Given the description of an element on the screen output the (x, y) to click on. 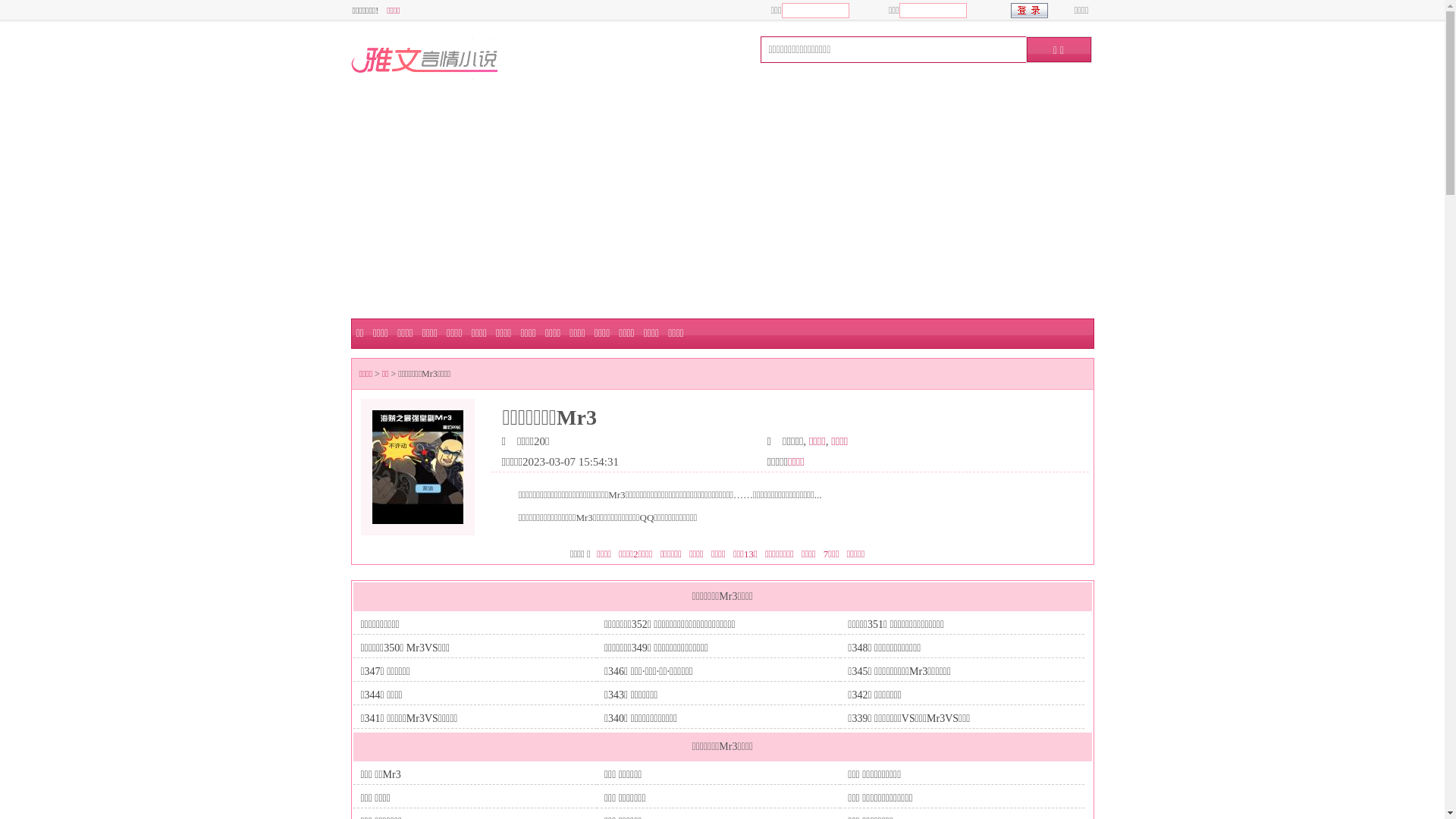
Advertisement Element type: hover (721, 204)
